Given the description of an element on the screen output the (x, y) to click on. 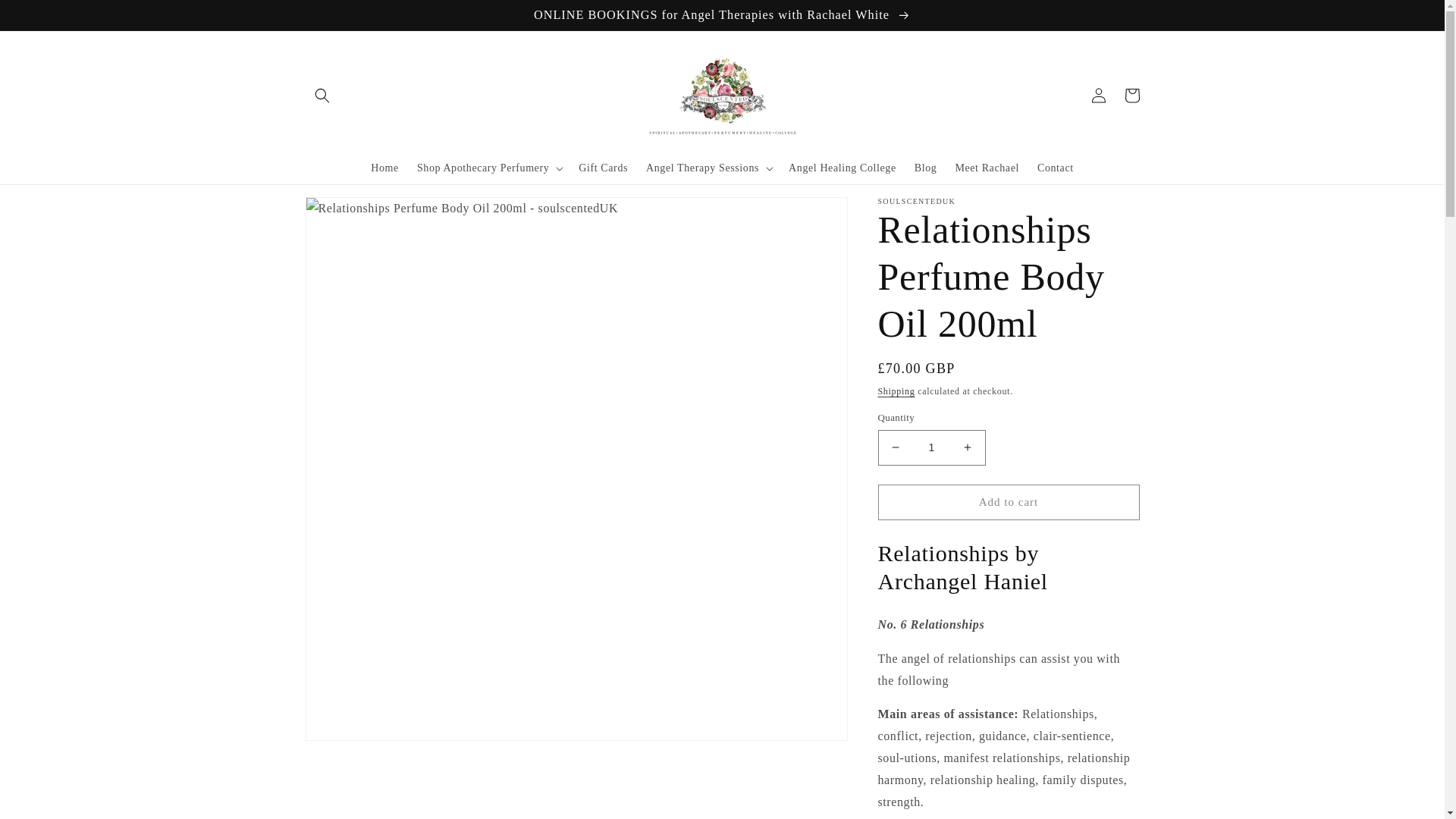
1 (931, 447)
Skip to content (45, 17)
Home (384, 168)
